Given the description of an element on the screen output the (x, y) to click on. 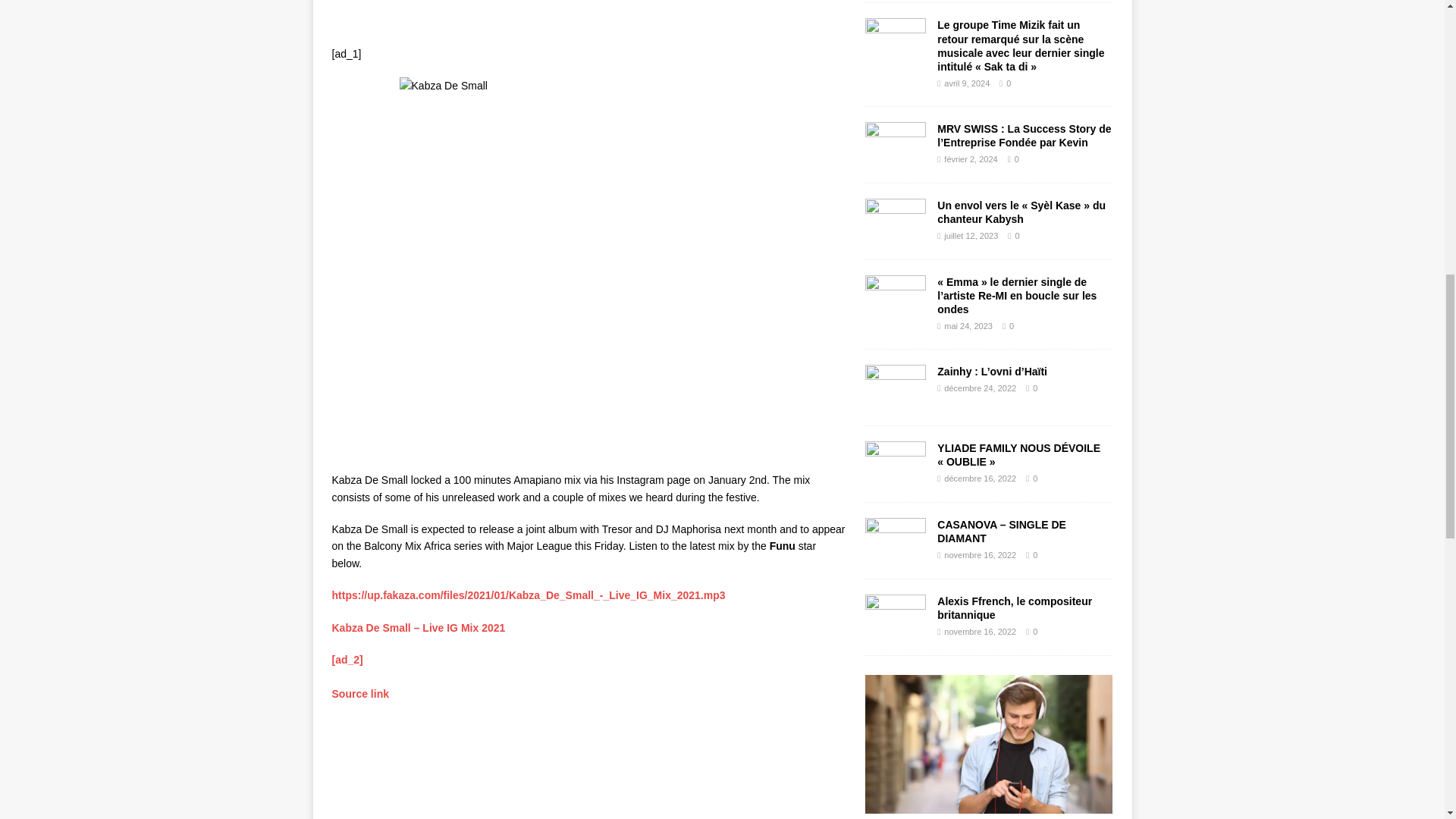
Source link (359, 693)
